Given the description of an element on the screen output the (x, y) to click on. 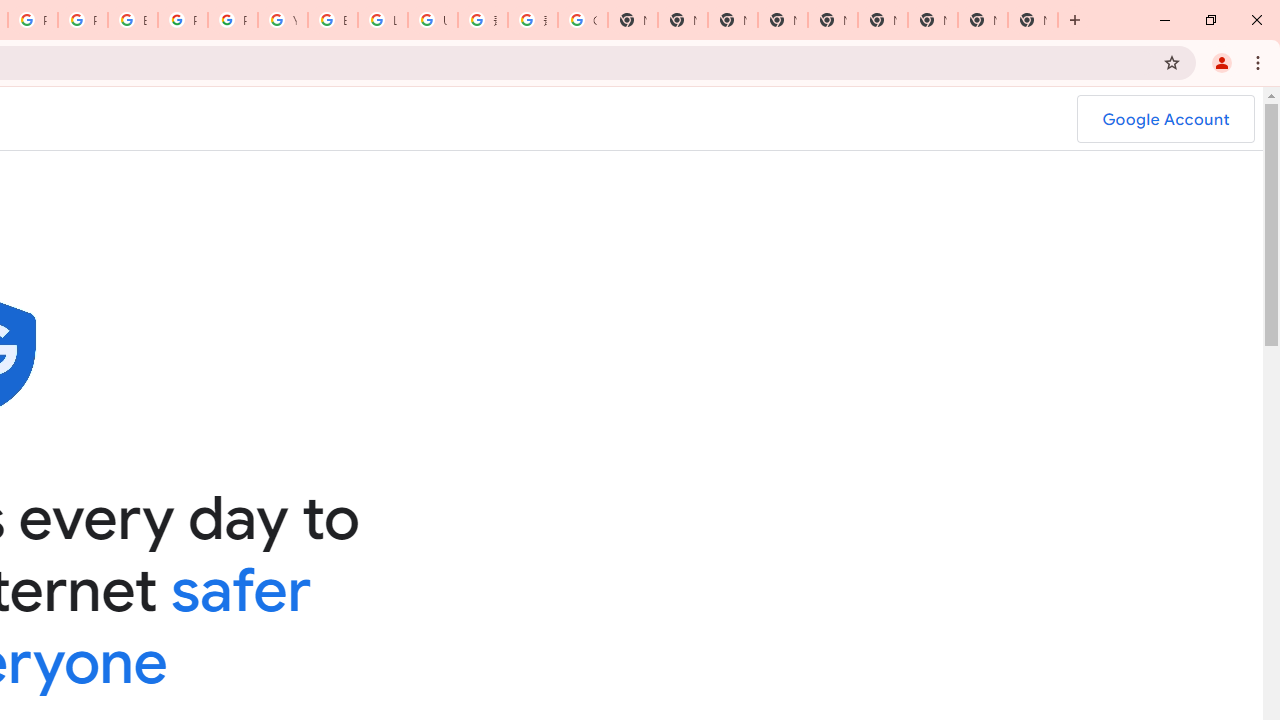
New Tab (782, 20)
YouTube (283, 20)
